Given the description of an element on the screen output the (x, y) to click on. 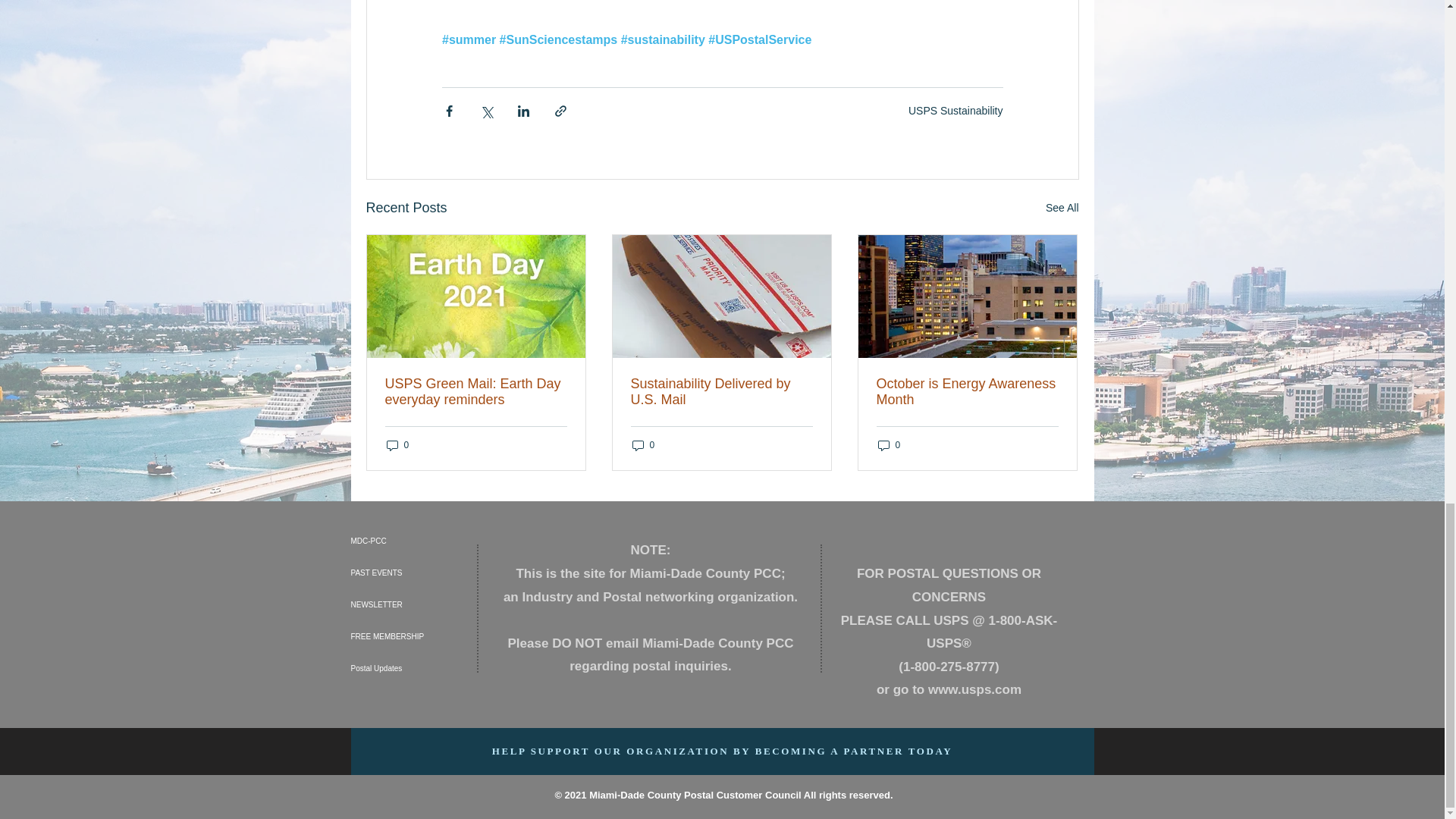
USPS Green Mail: Earth Day everyday reminders (476, 391)
Sustainability Delivered by U.S. Mail (721, 391)
FREE MEMBERSHIP (412, 636)
0 (643, 445)
PAST EVENTS (412, 572)
MDC-PCC (412, 541)
USPS Sustainability (955, 110)
See All (1061, 208)
Postal Updates (412, 668)
0 (889, 445)
